Given the description of an element on the screen output the (x, y) to click on. 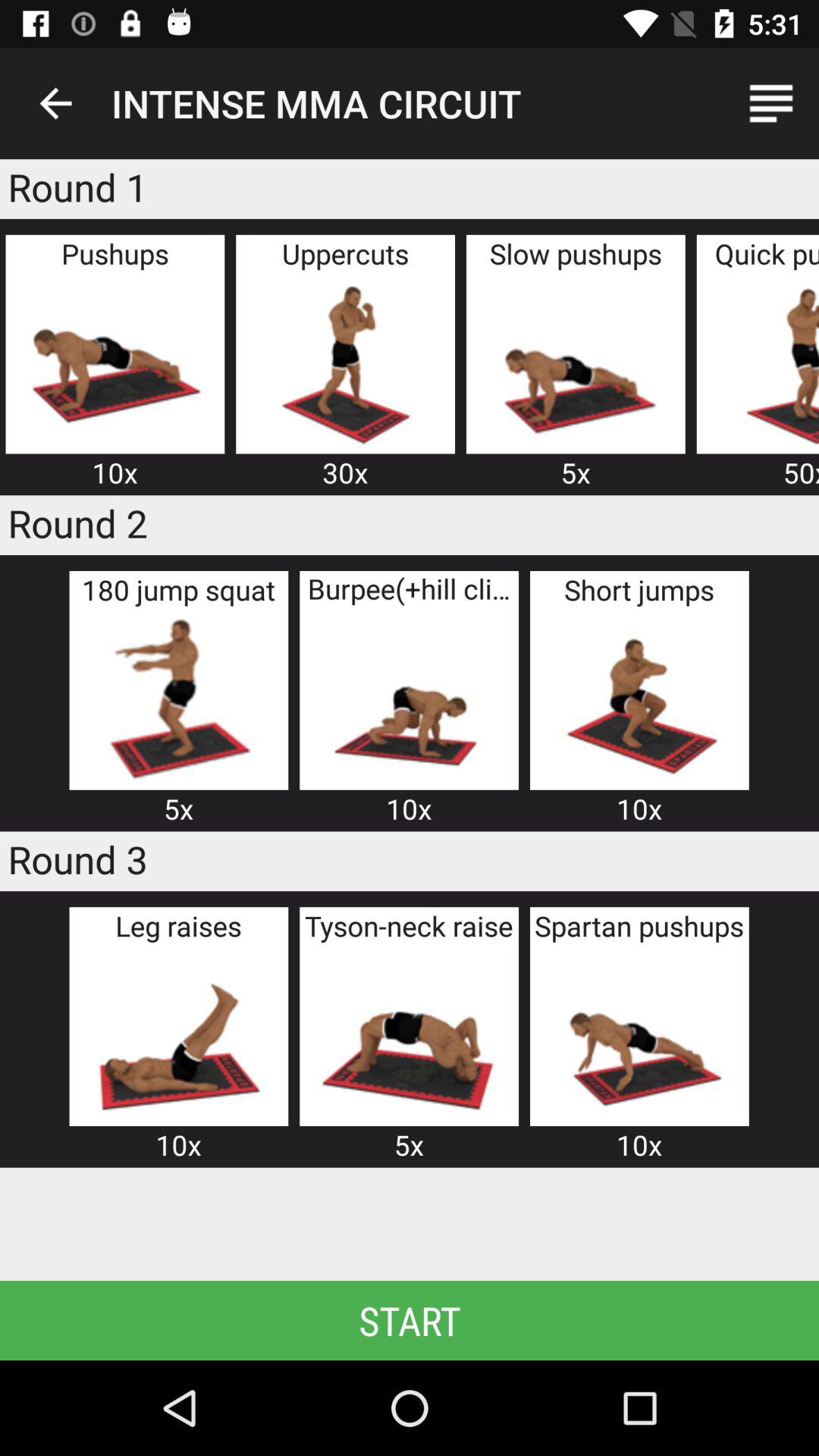
select quick punches option (767, 362)
